Given the description of an element on the screen output the (x, y) to click on. 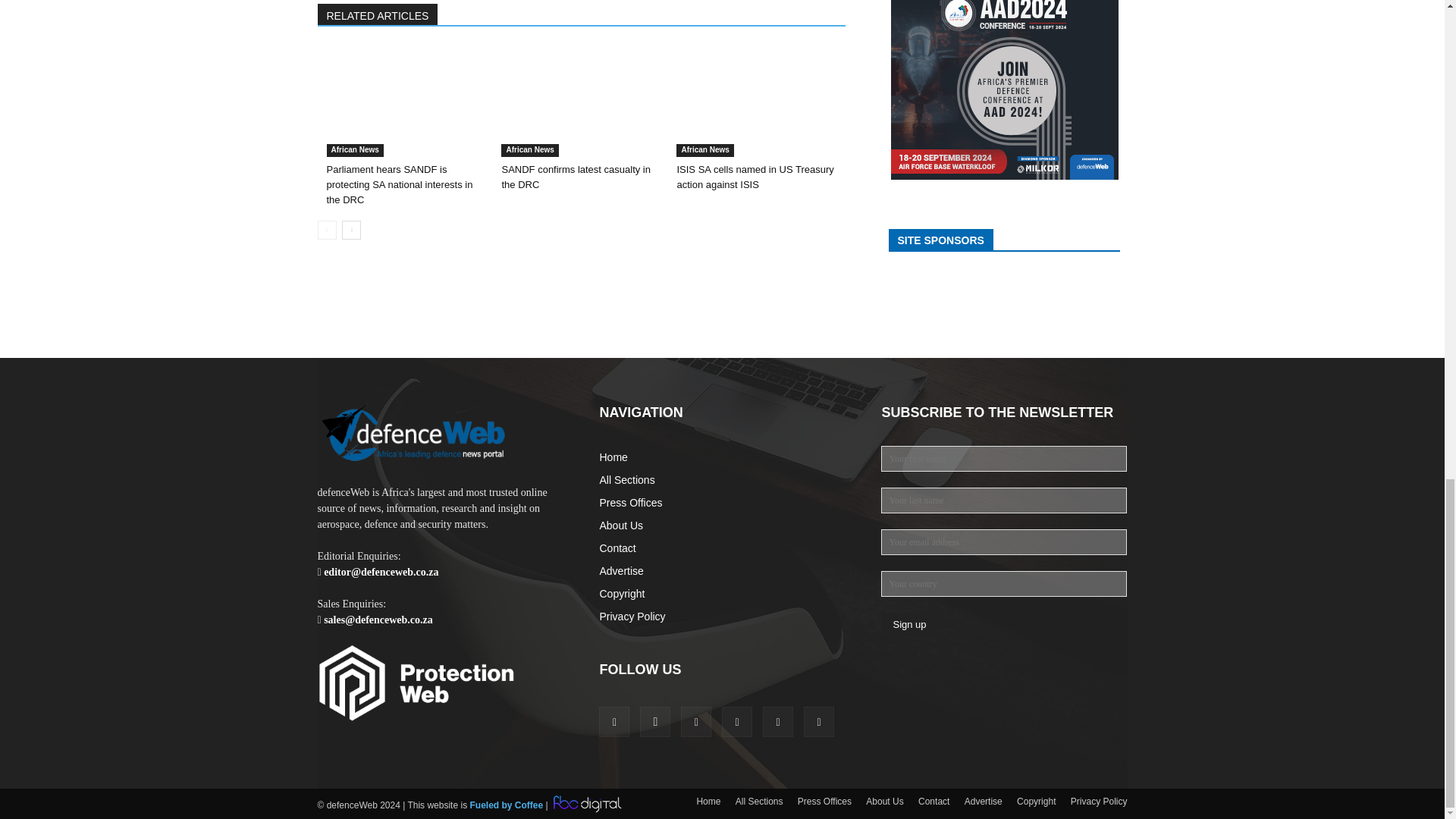
Sign up (908, 624)
